Given the description of an element on the screen output the (x, y) to click on. 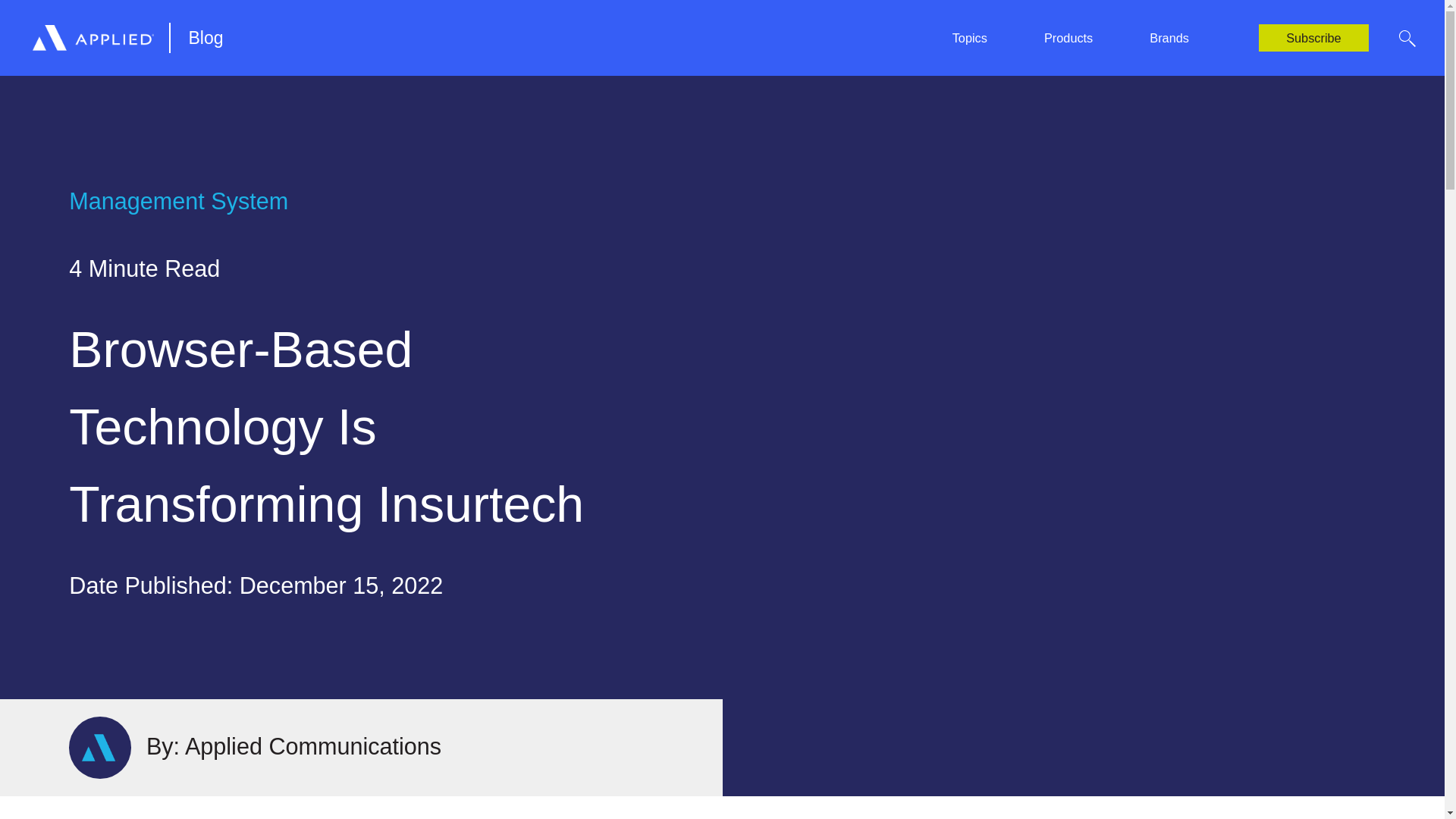
Innovation (530, 3)
Management System (994, 3)
Applied Epic for Salesforce (354, 3)
Applied Pay (753, 3)
Indio (734, 31)
Mobile (301, 31)
Blog (195, 37)
Life at Applied (758, 3)
Search (1407, 37)
Ivans (1162, 21)
Tarmika (1168, 51)
Tarmika (960, 31)
Applied Marketing Automation (580, 3)
Epic Quotes (316, 31)
Subscribe (1313, 37)
